Given the description of an element on the screen output the (x, y) to click on. 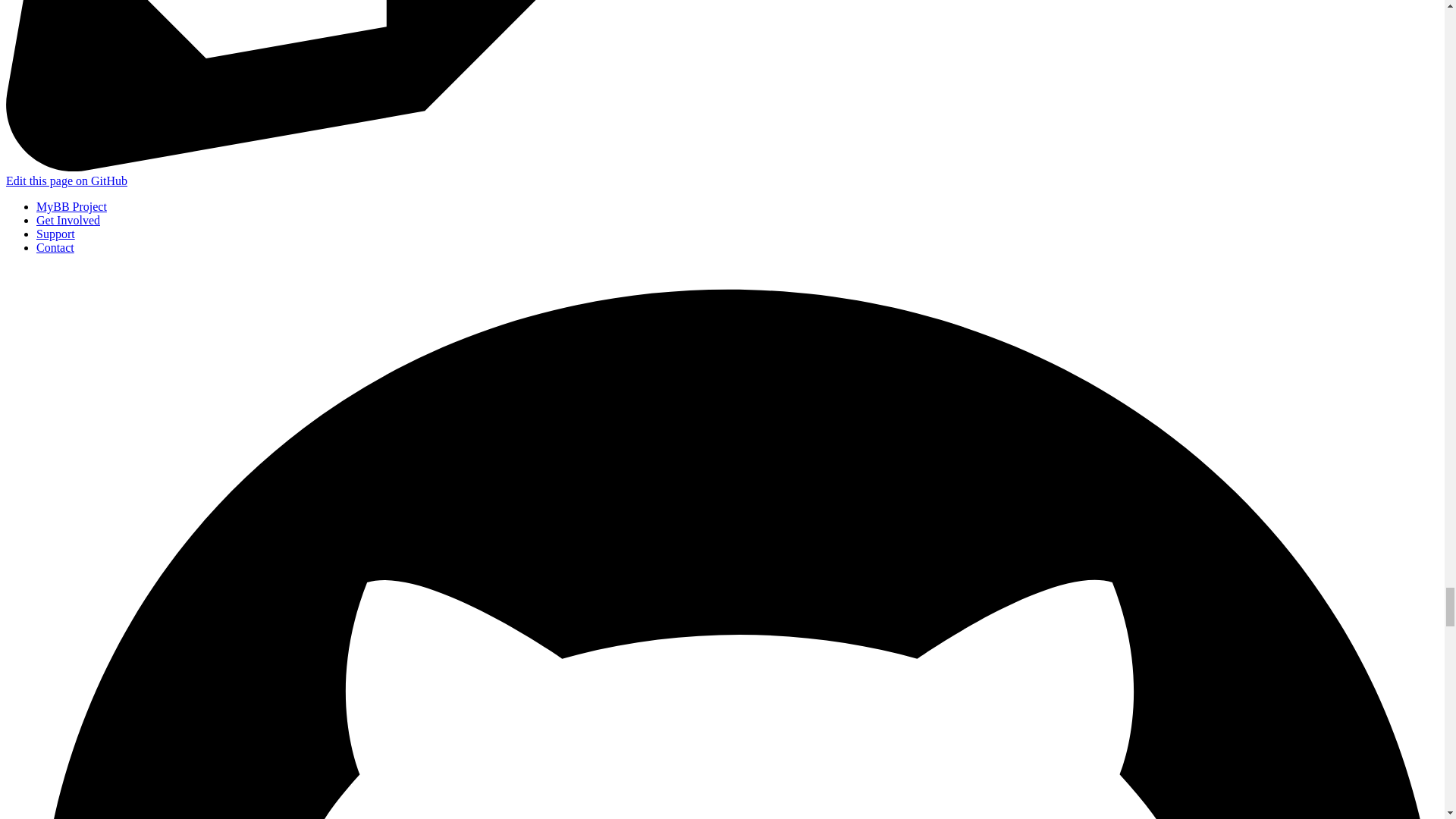
Support (55, 233)
Get Involved (68, 219)
MyBB Project (71, 205)
Contact (55, 246)
